Given the description of an element on the screen output the (x, y) to click on. 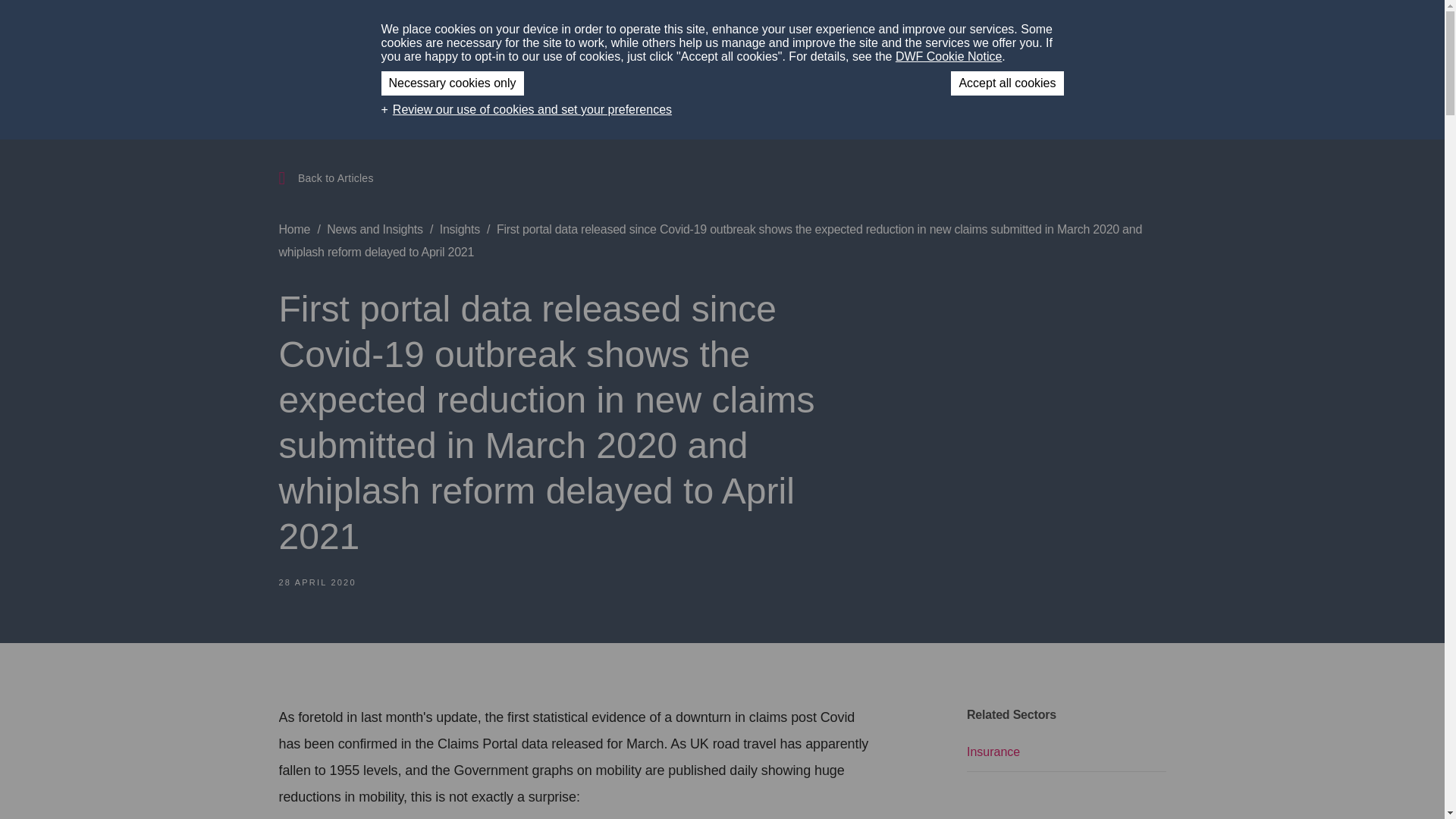
LOCATIONS (898, 30)
SUSTAINABILITY (813, 30)
CAREERS (977, 30)
CLIENT LOGIN (1063, 30)
ABOUT (728, 30)
HOME (671, 30)
